Given the description of an element on the screen output the (x, y) to click on. 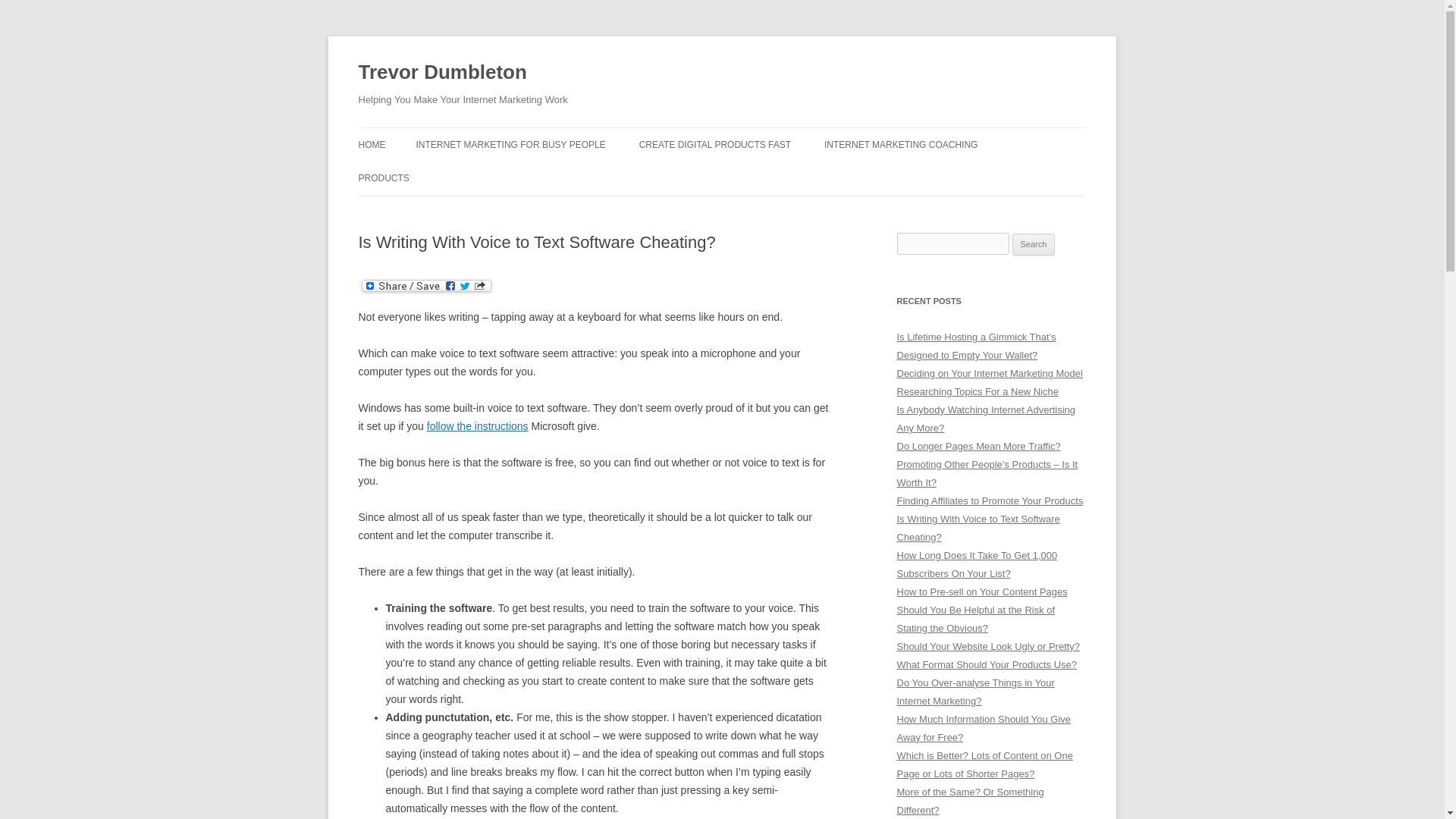
Should Your Website Look Ugly or Pretty? (988, 645)
Search (1033, 244)
follow the instructions (477, 426)
Is Anybody Watching Internet Advertising Any More? (985, 419)
Is Writing With Voice to Text Software Cheating? (977, 527)
Trevor Dumbleton (441, 72)
Do You Over-analyse Things in Your Internet Marketing? (975, 691)
What Format Should Your Products Use? (985, 664)
Finding Affiliates to Promote Your Products (989, 500)
How Much Information Should You Give Away for Free? (983, 727)
